Given the description of an element on the screen output the (x, y) to click on. 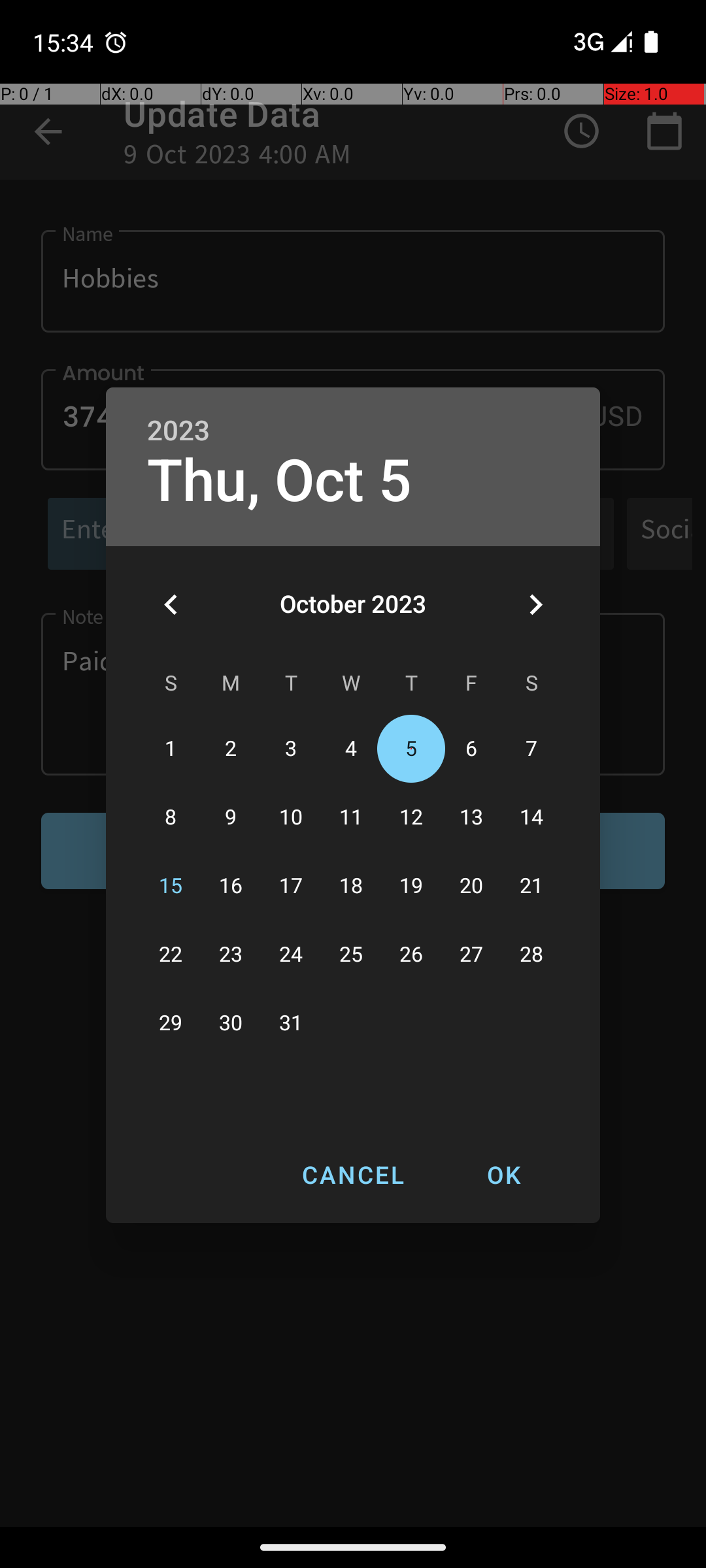
Thu, Oct 5 Element type: android.widget.TextView (279, 480)
